Given the description of an element on the screen output the (x, y) to click on. 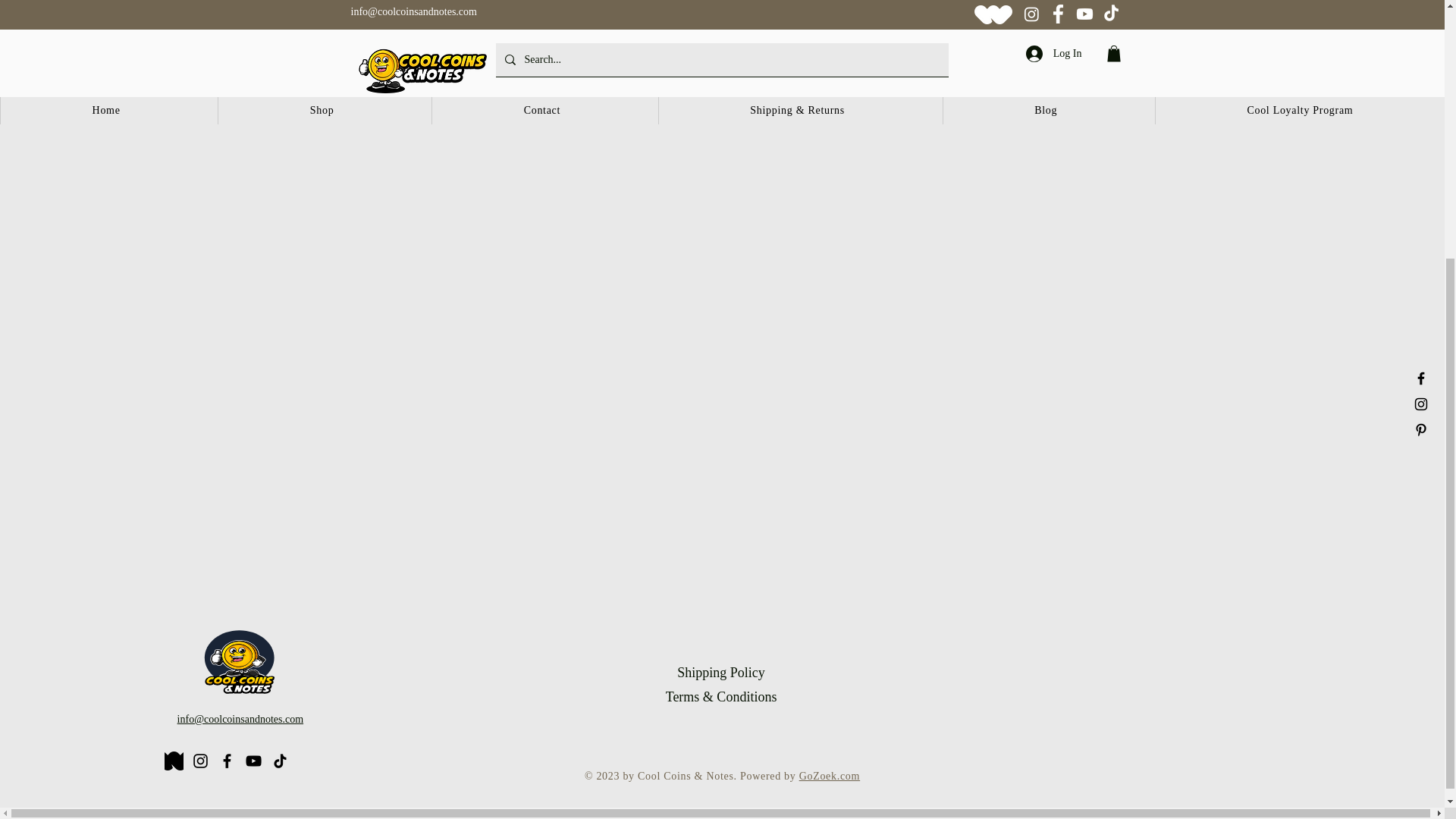
GoZoek.com (829, 776)
Shipping Policy (721, 672)
Continue Shopping (721, 33)
